Given the description of an element on the screen output the (x, y) to click on. 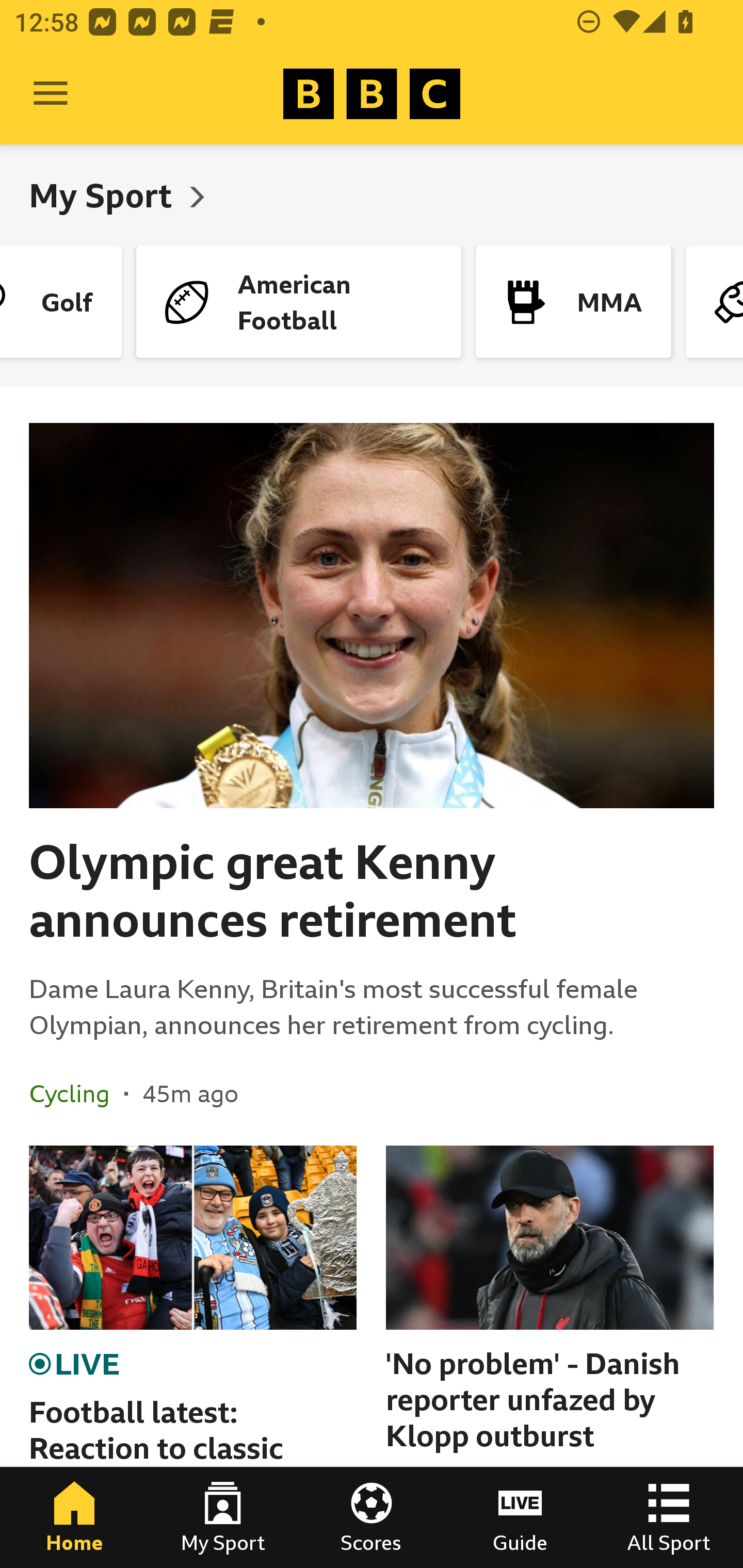
Open Menu (50, 93)
My Sport (104, 195)
Cycling In the section Cycling (76, 1093)
My Sport (222, 1517)
Scores (371, 1517)
Guide (519, 1517)
All Sport (668, 1517)
